Given the description of an element on the screen output the (x, y) to click on. 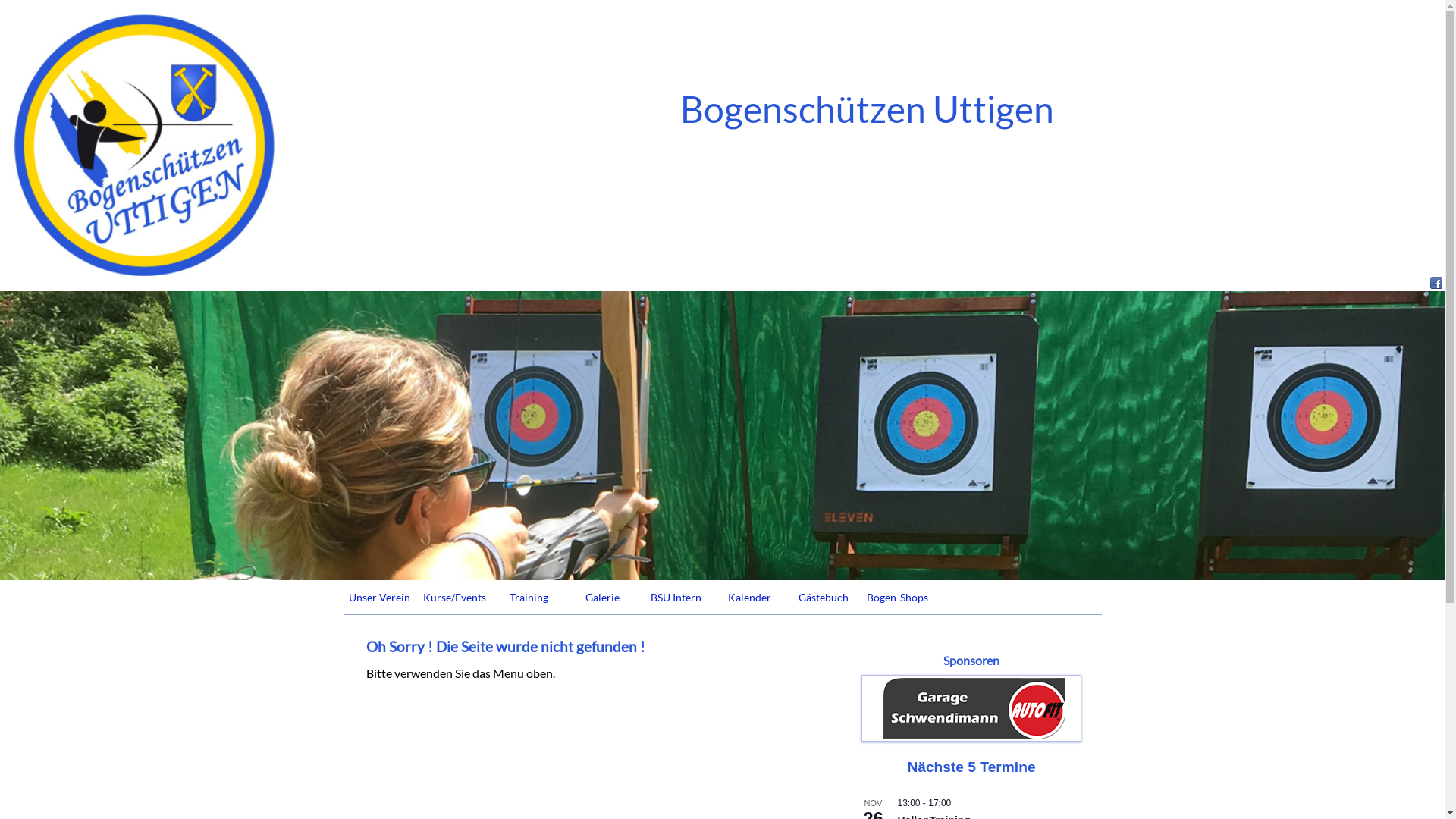
BSU Intern Element type: text (676, 596)
Kurse/Events Element type: text (454, 596)
Unser Verein Element type: text (379, 596)
Kalender Element type: text (748, 596)
Home Element type: hover (144, 145)
Besuchen Sie unsere Facebook Seite Element type: hover (1436, 283)
Galerie Element type: text (601, 596)
Bogen-Shops Element type: text (896, 596)
Training Element type: text (528, 596)
